Given the description of an element on the screen output the (x, y) to click on. 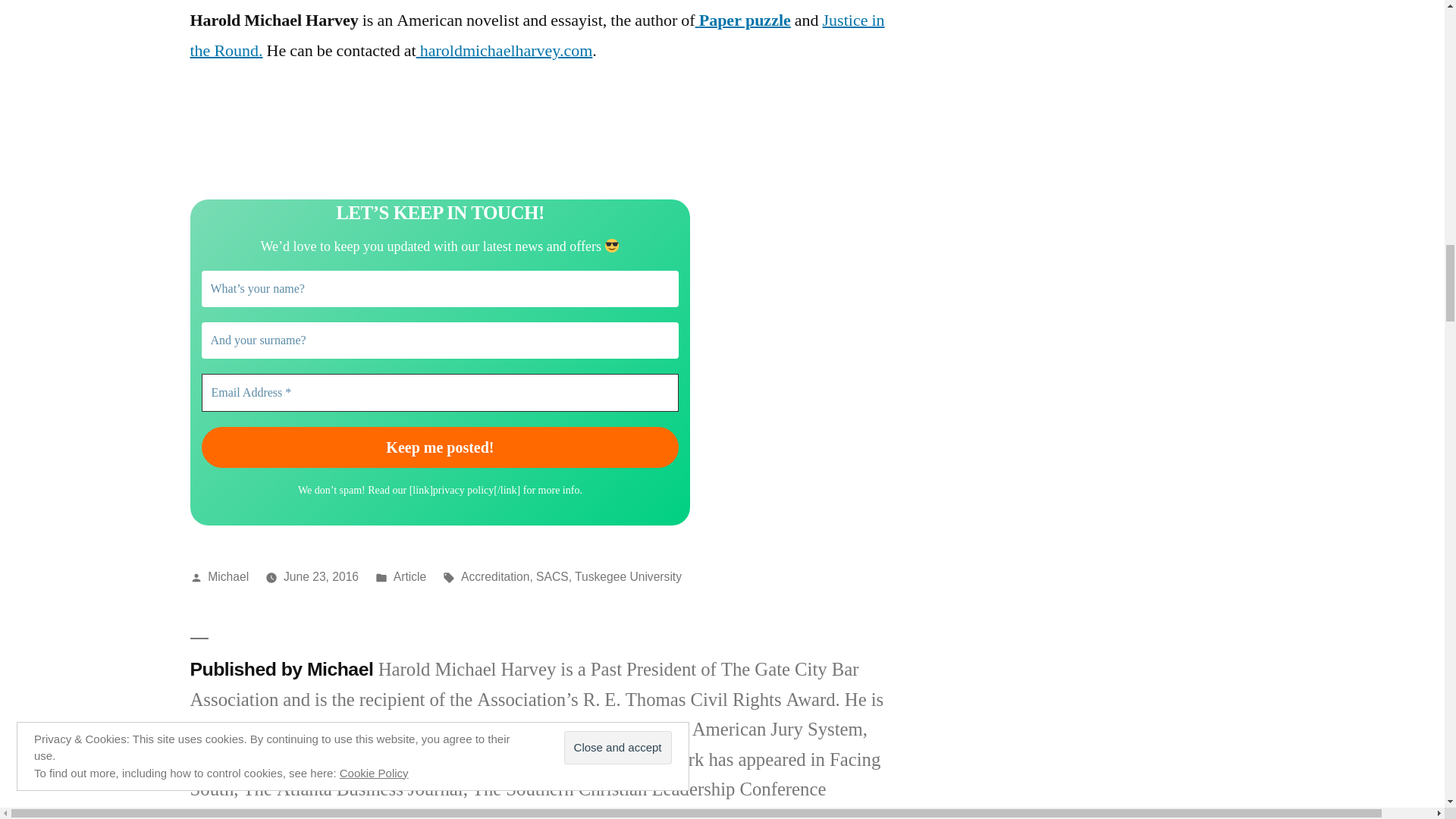
And your surname? (440, 340)
 haroldmichaelharvey.com (504, 50)
Justice in the Round. (536, 35)
Keep me posted! (440, 446)
Michael (228, 576)
SACS (552, 576)
June 23, 2016 (320, 576)
Tuskegee University (628, 576)
 Paper puzzle (742, 20)
Keep me posted! (440, 446)
